Given the description of an element on the screen output the (x, y) to click on. 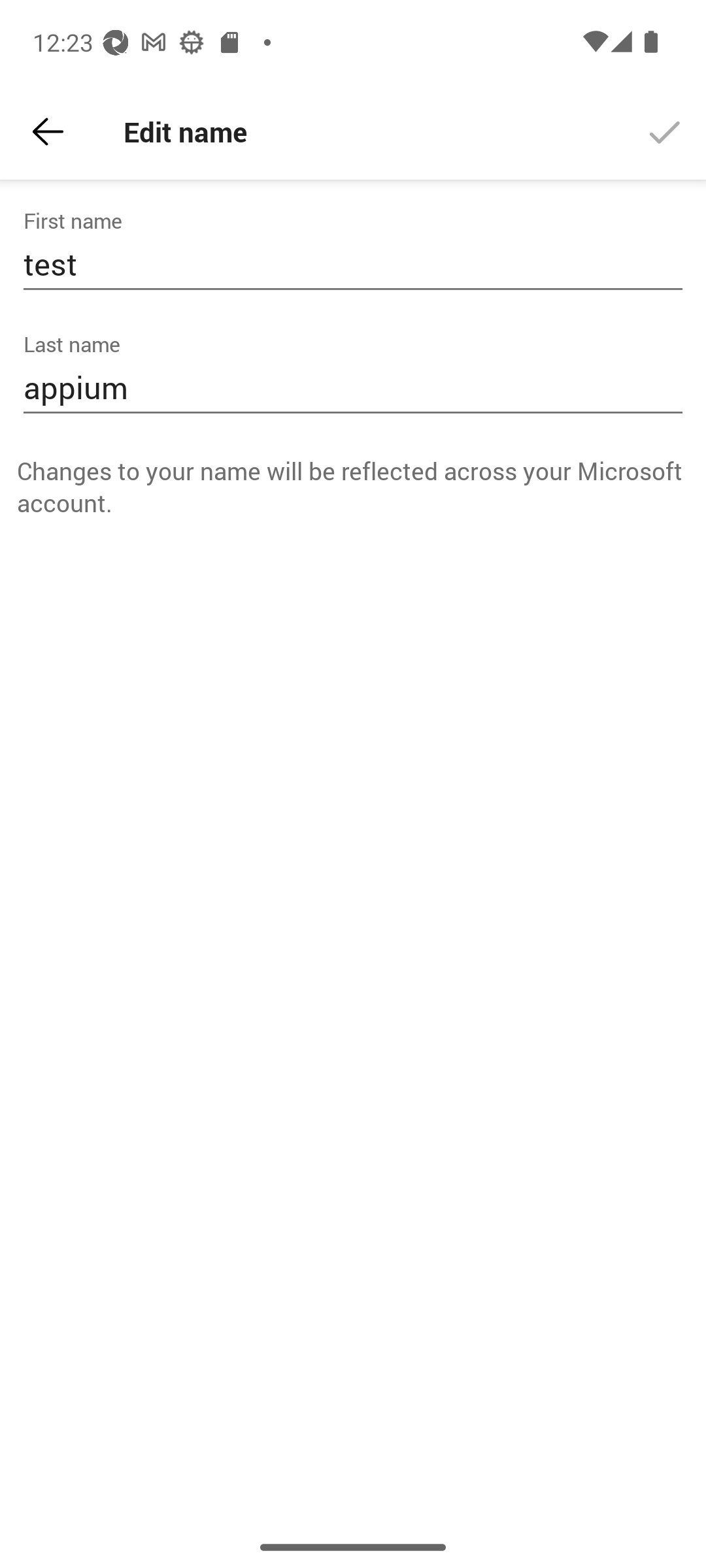
Back (48, 131)
test (352, 263)
appium (352, 387)
